Given the description of an element on the screen output the (x, y) to click on. 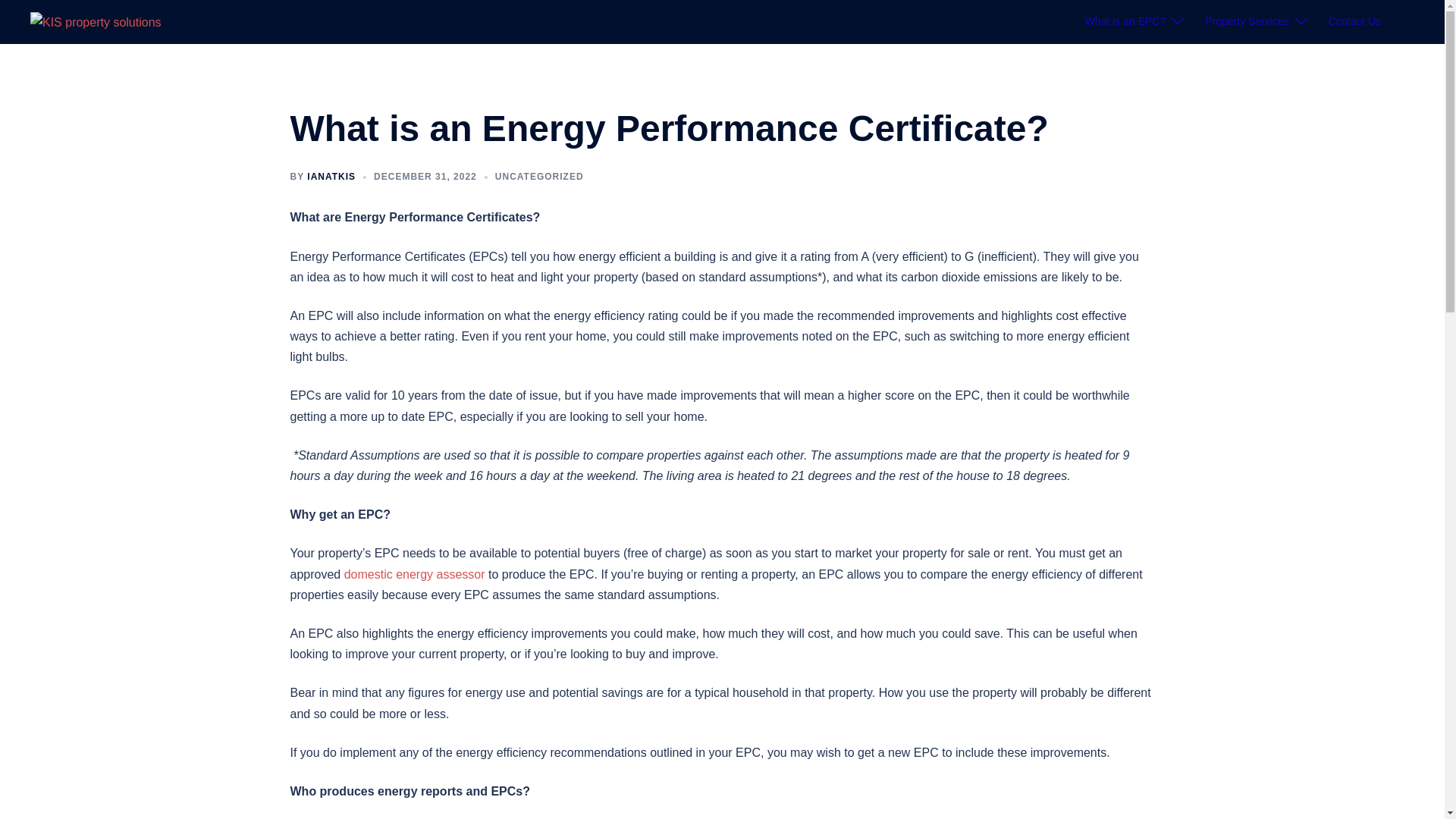
KIS property solutions (95, 21)
UNCATEGORIZED (539, 176)
 domestic energy assessor (412, 574)
What is an EPC? (1125, 22)
IANATKIS (331, 176)
Contact Us (1353, 22)
DECEMBER 31, 2022 (425, 176)
Property Services (1246, 22)
